Given the description of an element on the screen output the (x, y) to click on. 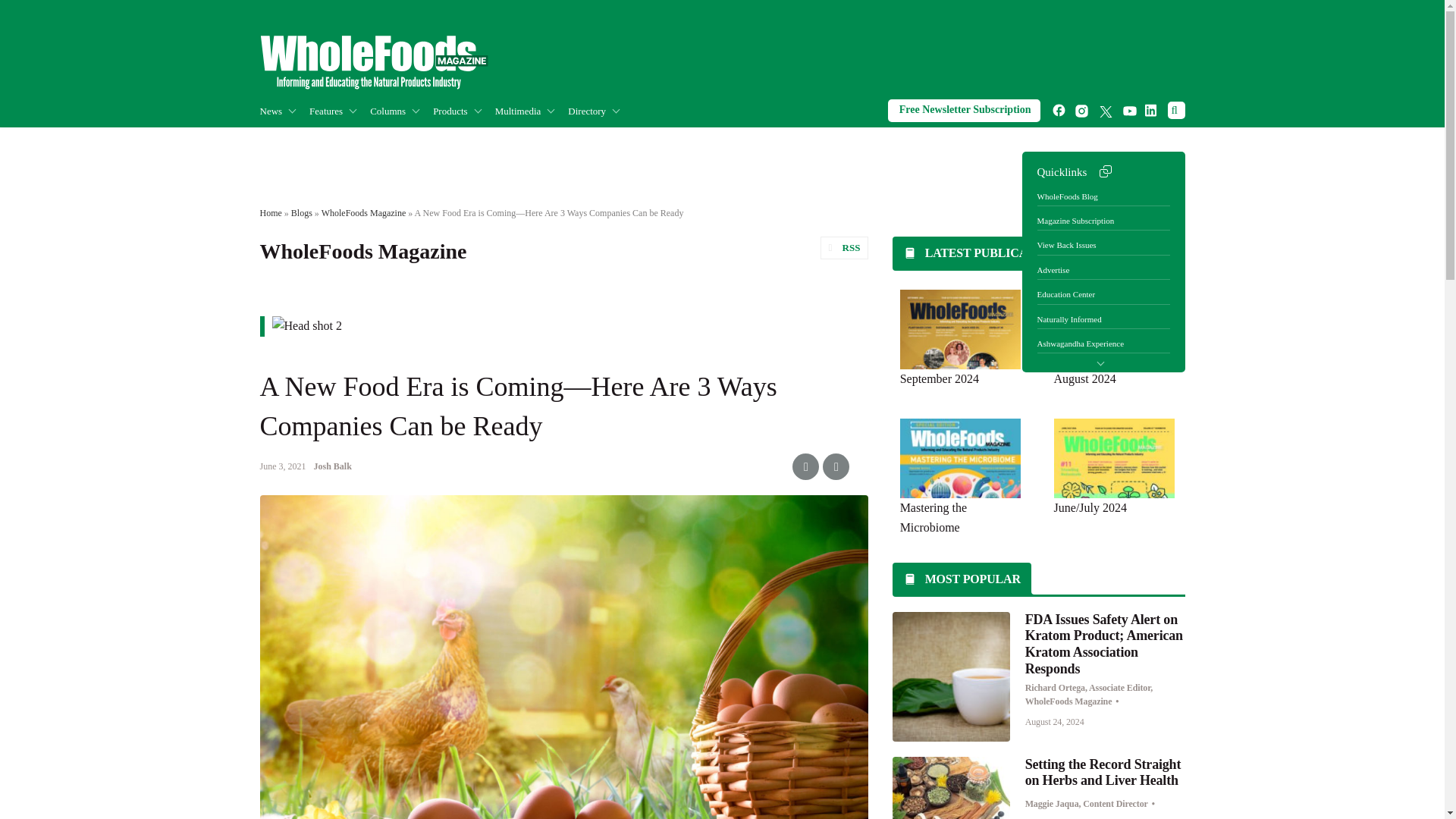
Group 2 (373, 62)
Supplier News (361, 142)
Editorial (453, 142)
Good Health Reads (458, 142)
News (283, 110)
All News (334, 142)
Supplements (384, 142)
Columns (400, 110)
Happy Customer (464, 142)
Research (369, 142)
